Given the description of an element on the screen output the (x, y) to click on. 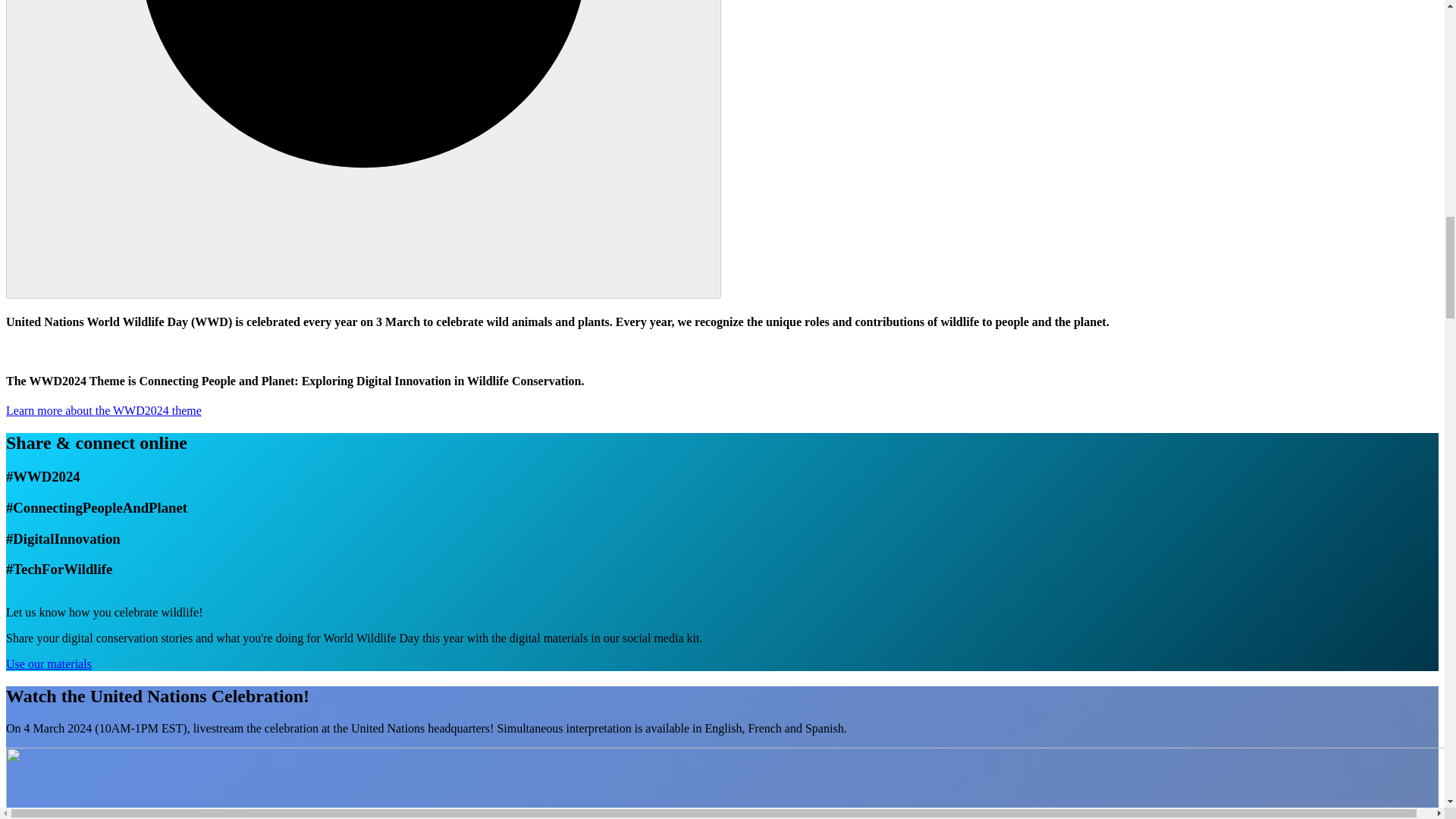
Learn more about the WWD2024 theme (103, 410)
Use our materials (48, 663)
